Given the description of an element on the screen output the (x, y) to click on. 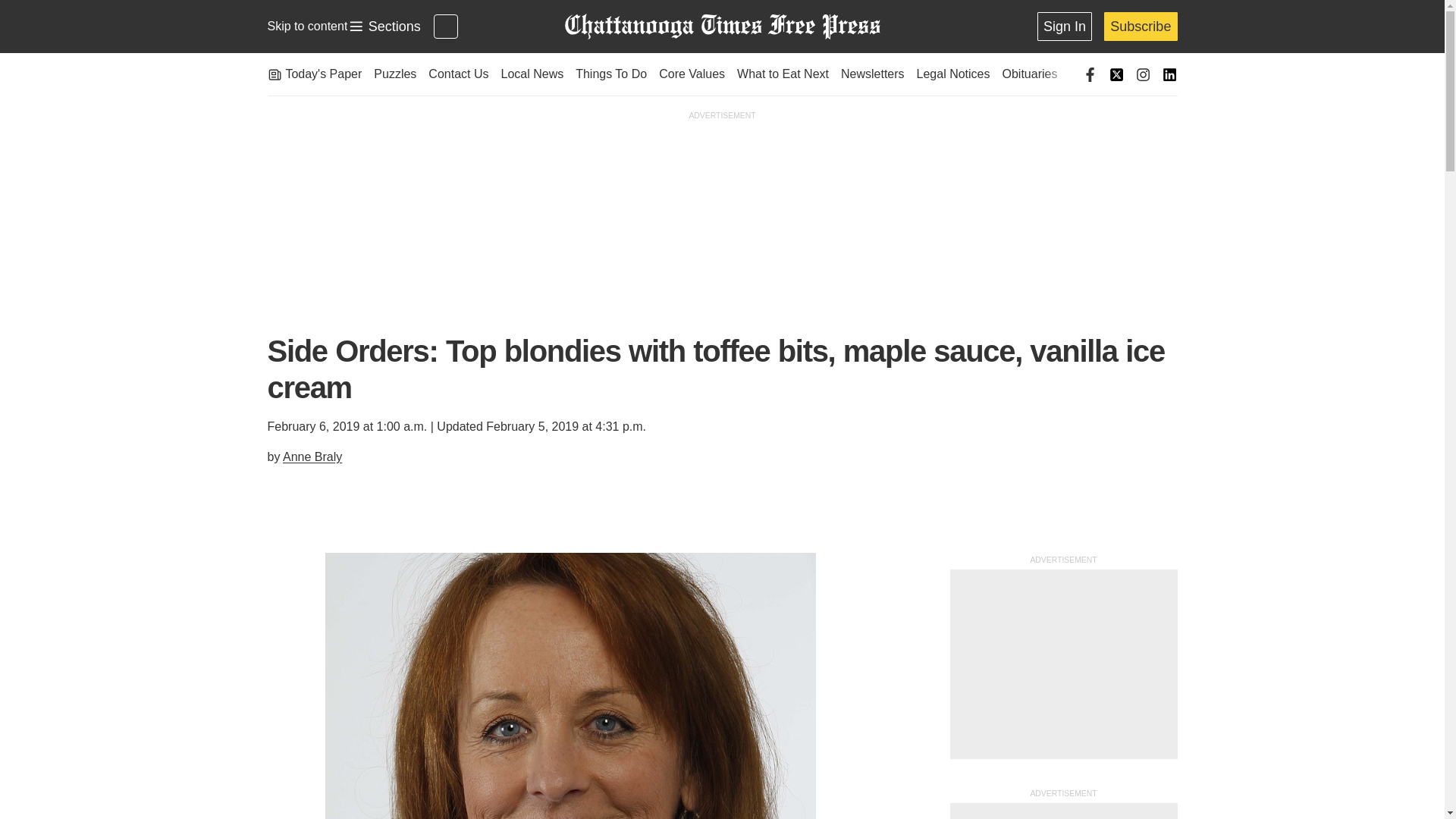
Skip to content (383, 26)
Times Free Press (306, 26)
